Given the description of an element on the screen output the (x, y) to click on. 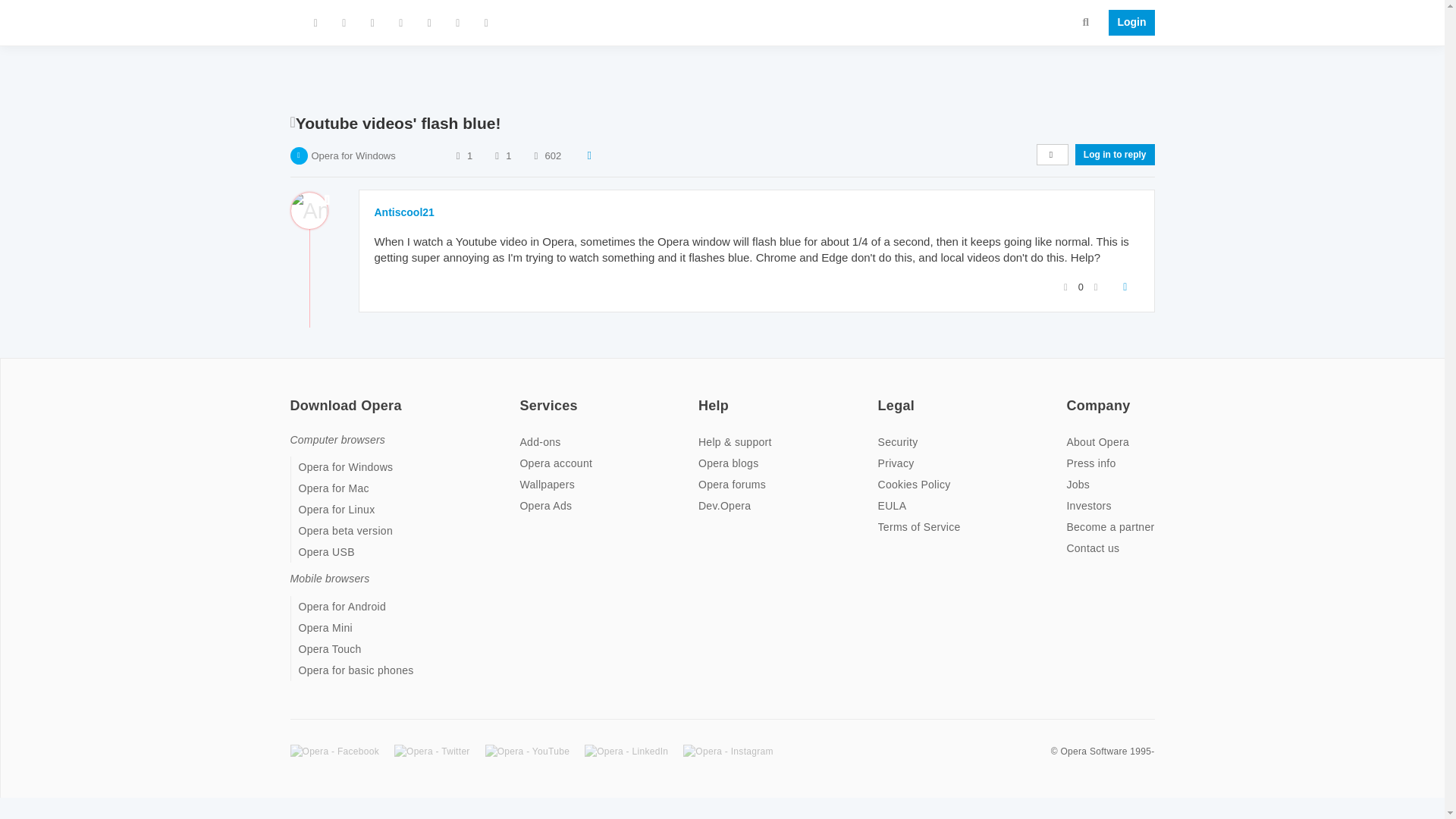
Views (535, 155)
Search (1085, 21)
Opera for Windows (352, 155)
Posters (457, 155)
Antiscool21 (403, 212)
on (881, 395)
on (293, 395)
Posts (496, 155)
on (702, 395)
on (523, 395)
